Given the description of an element on the screen output the (x, y) to click on. 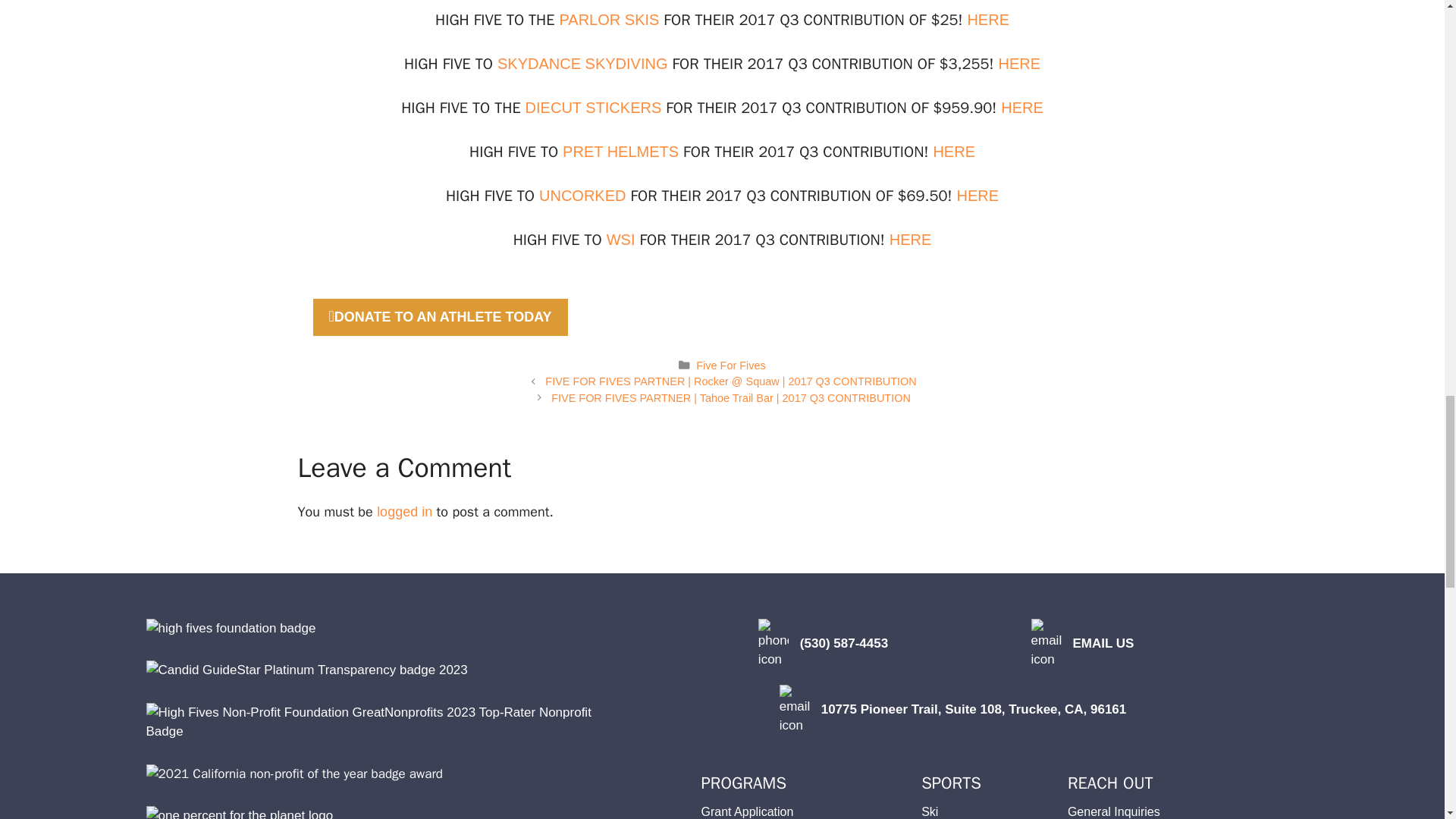
High Fives Foundation (230, 628)
Call Us! (773, 644)
2021 California Non-Profit of the Year (293, 773)
GuideStar Platinum Transparency Award (306, 670)
Donate to an Athlete Today (440, 316)
2023 Top-rated nonprofits and charities award (385, 722)
One Percent for the Planet (239, 812)
